Given the description of an element on the screen output the (x, y) to click on. 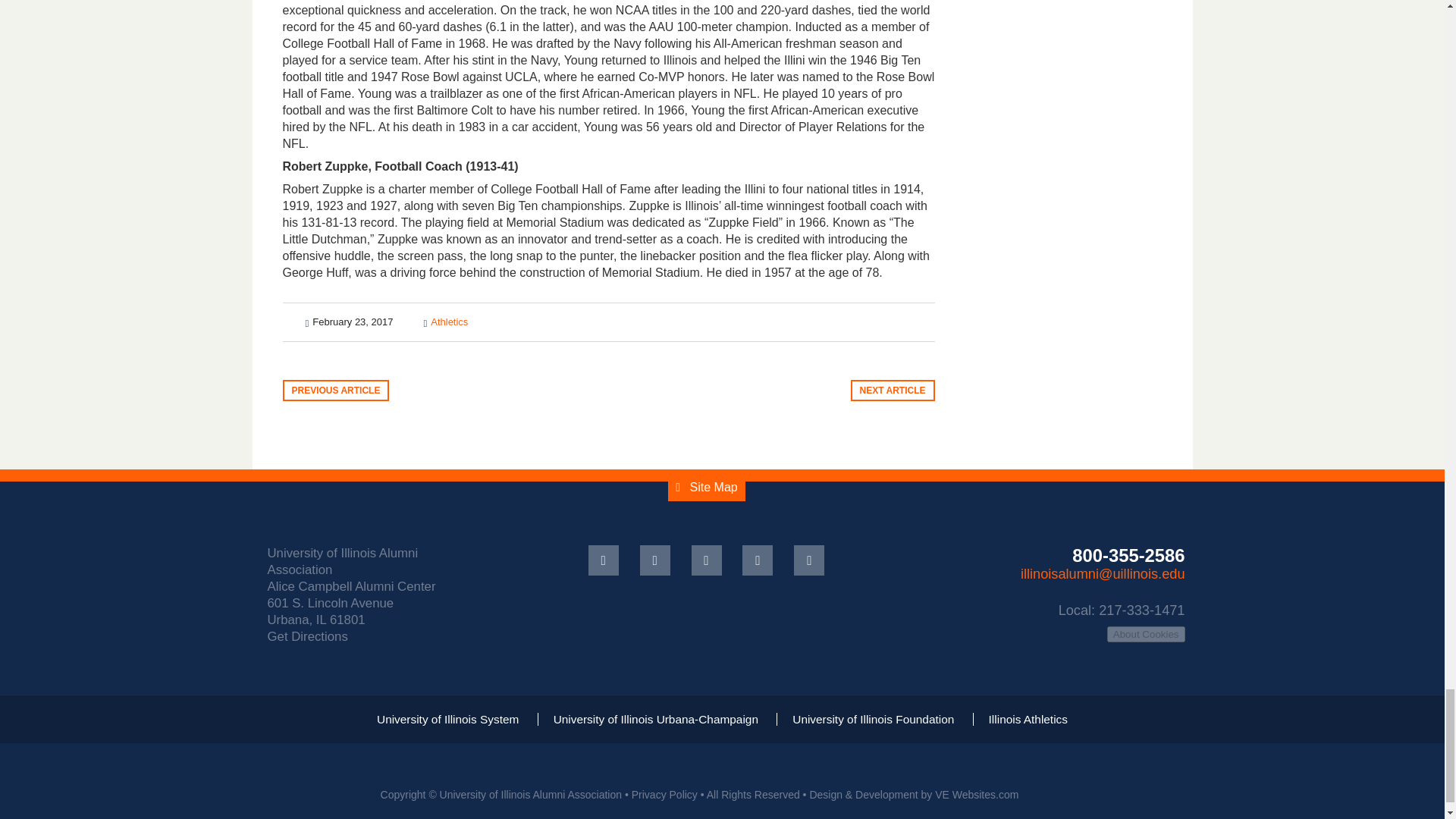
Linkedin (706, 560)
Twitter (654, 560)
Flickr (757, 560)
Instagram (808, 560)
Facebook (603, 560)
